Given the description of an element on the screen output the (x, y) to click on. 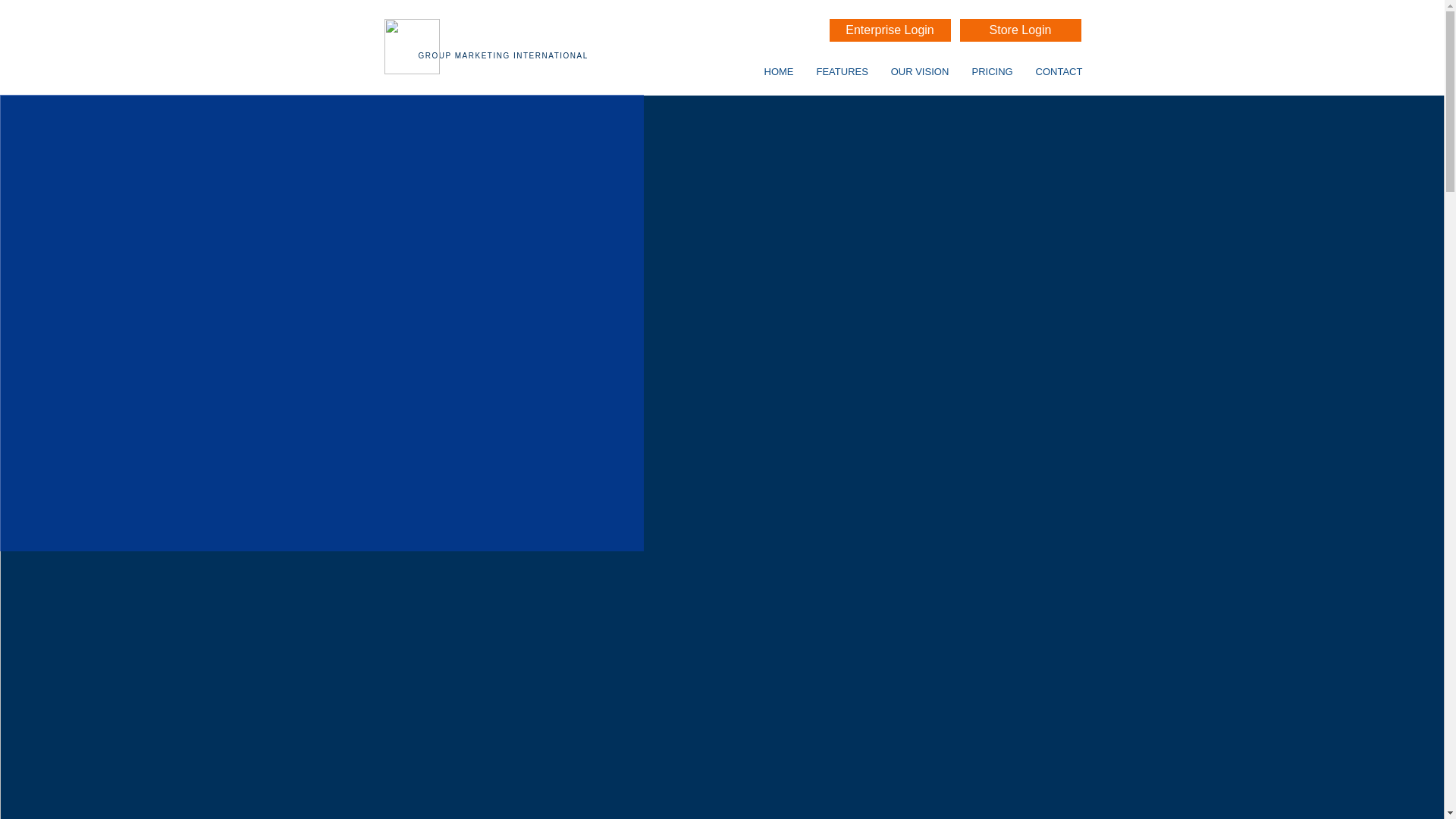
CONTACT (1058, 71)
PRICING (992, 71)
FEATURES (846, 71)
HOME (786, 71)
OUR VISION (922, 71)
Store Login (1020, 29)
Enterprise Login (889, 29)
